Given the description of an element on the screen output the (x, y) to click on. 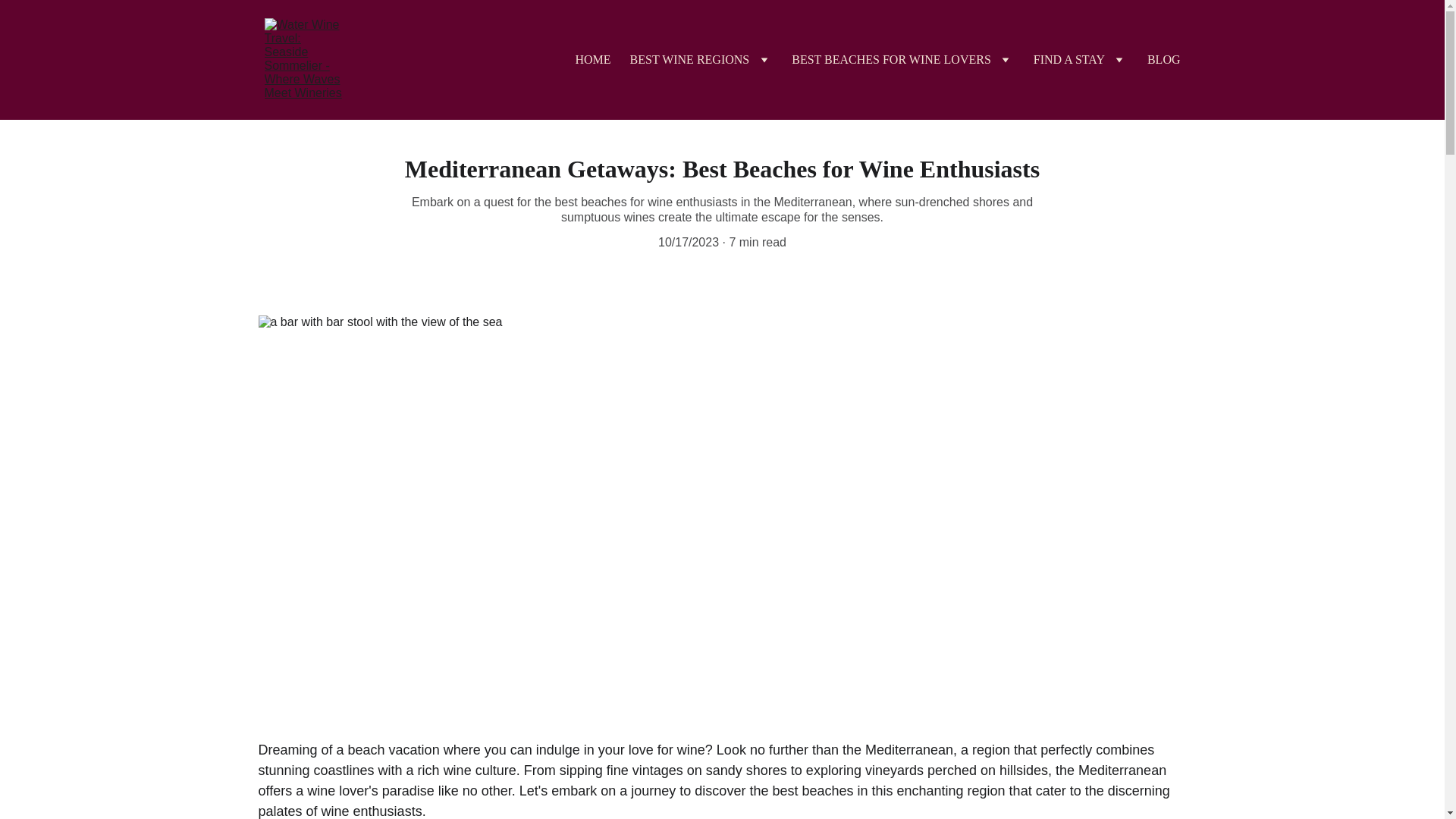
BLOG (1163, 59)
HOME (592, 59)
